Given the description of an element on the screen output the (x, y) to click on. 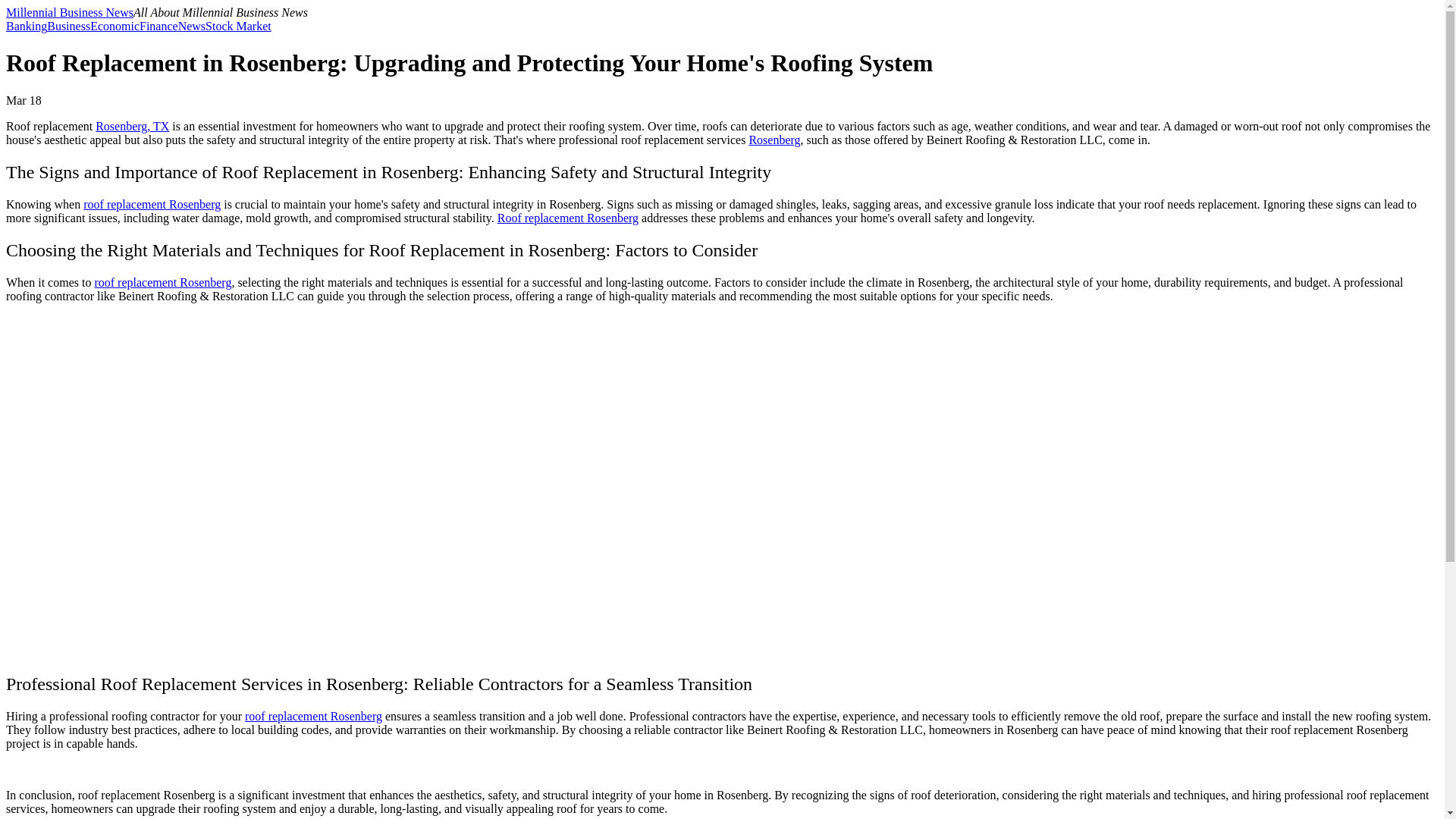
Roof replacement Rosenberg (568, 217)
Rosenberg, TX (132, 125)
Business (68, 25)
roof replacement Rosenberg (151, 204)
Millennial Business News (69, 11)
Banking (25, 25)
Stock Market (237, 25)
Rosenberg (773, 139)
roof replacement Rosenberg (162, 282)
News (191, 25)
roof replacement Rosenberg (312, 716)
Finance (158, 25)
Economic (114, 25)
